Given the description of an element on the screen output the (x, y) to click on. 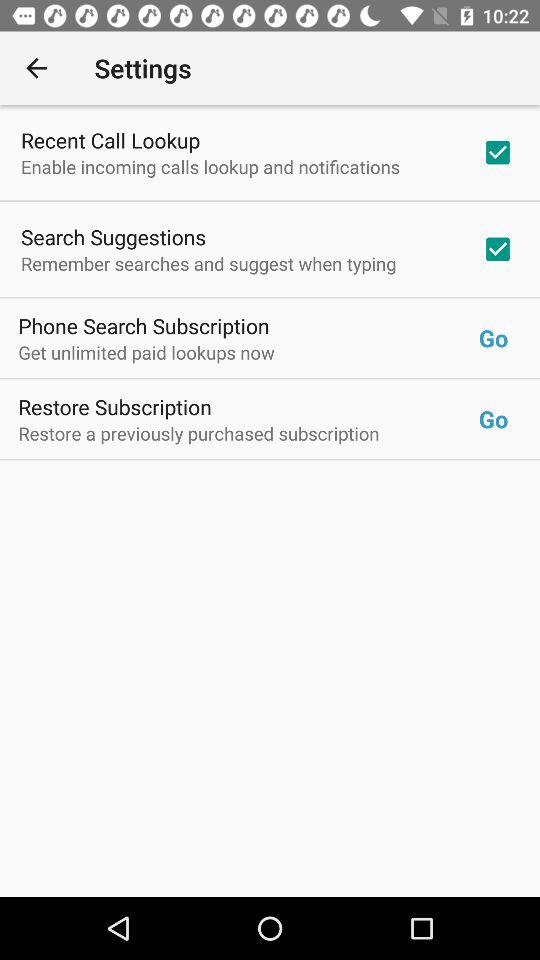
tap icon next to go icon (143, 325)
